Given the description of an element on the screen output the (x, y) to click on. 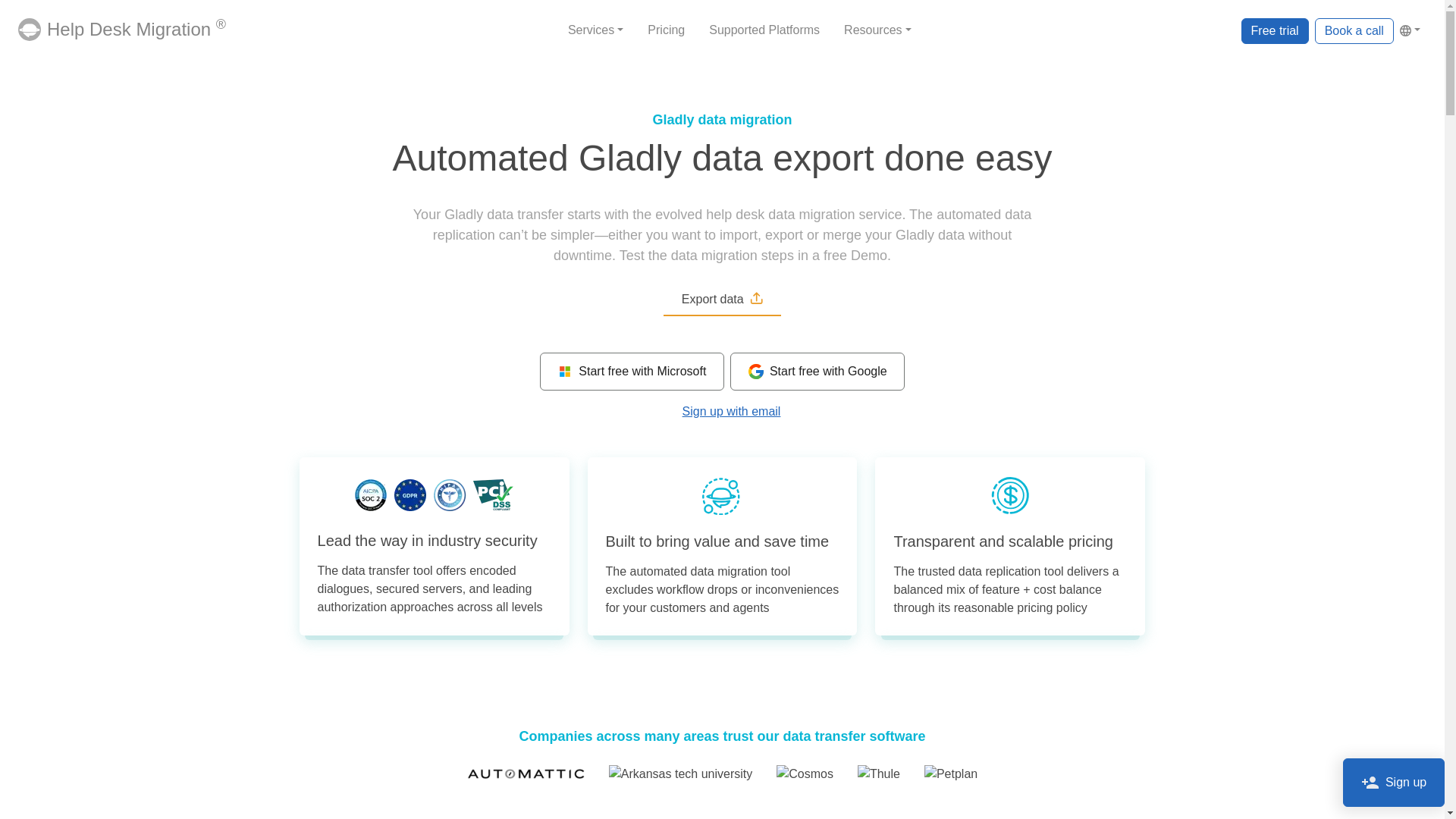
Supported Platforms (764, 30)
Services (595, 30)
Services (595, 30)
Pricing (666, 30)
Resources (877, 30)
